Given the description of an element on the screen output the (x, y) to click on. 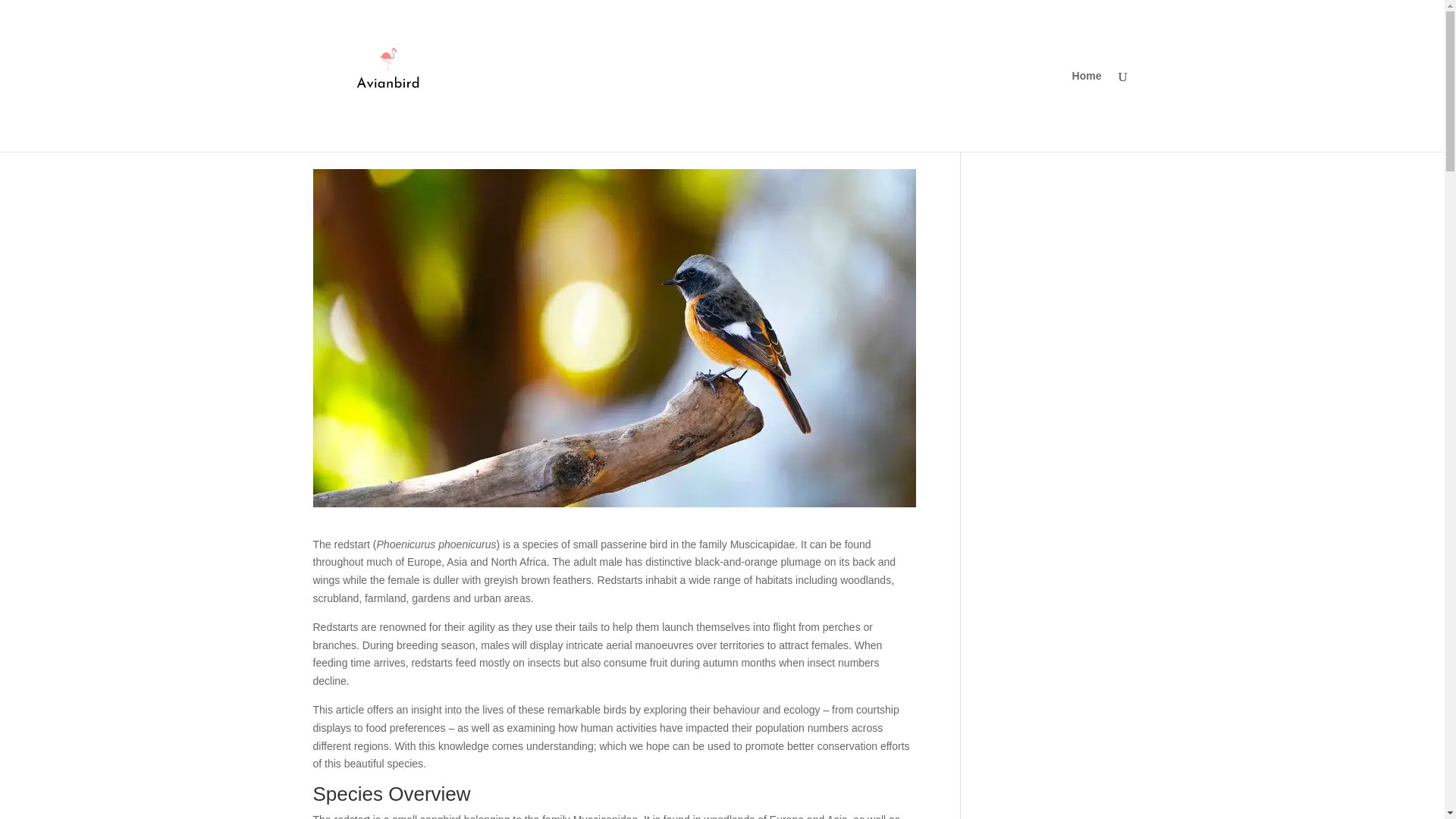
Birds of the world (486, 143)
Posts by avianbird (347, 143)
avianbird (347, 143)
